Given the description of an element on the screen output the (x, y) to click on. 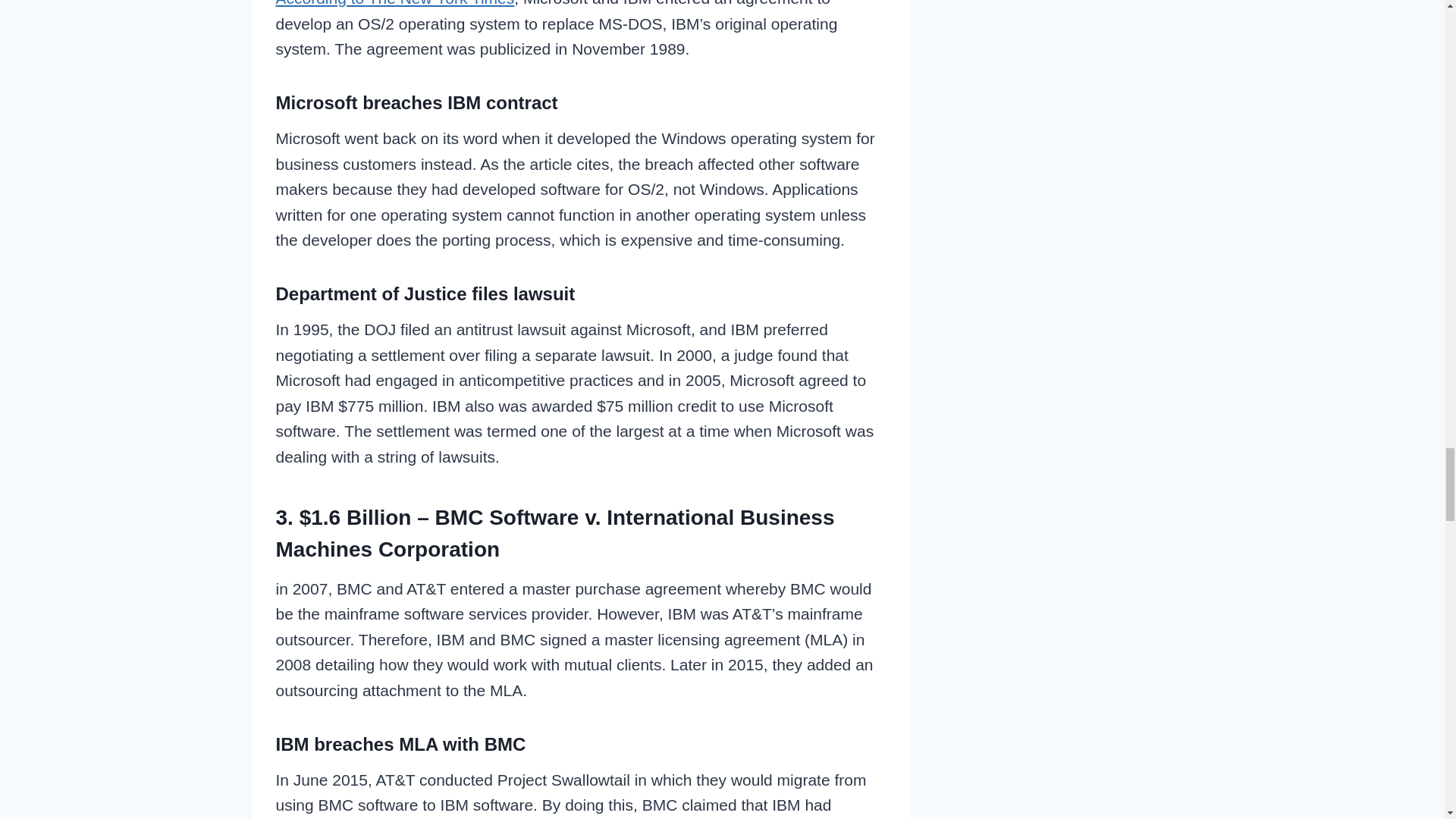
According to The New York Times (395, 3)
